Given the description of an element on the screen output the (x, y) to click on. 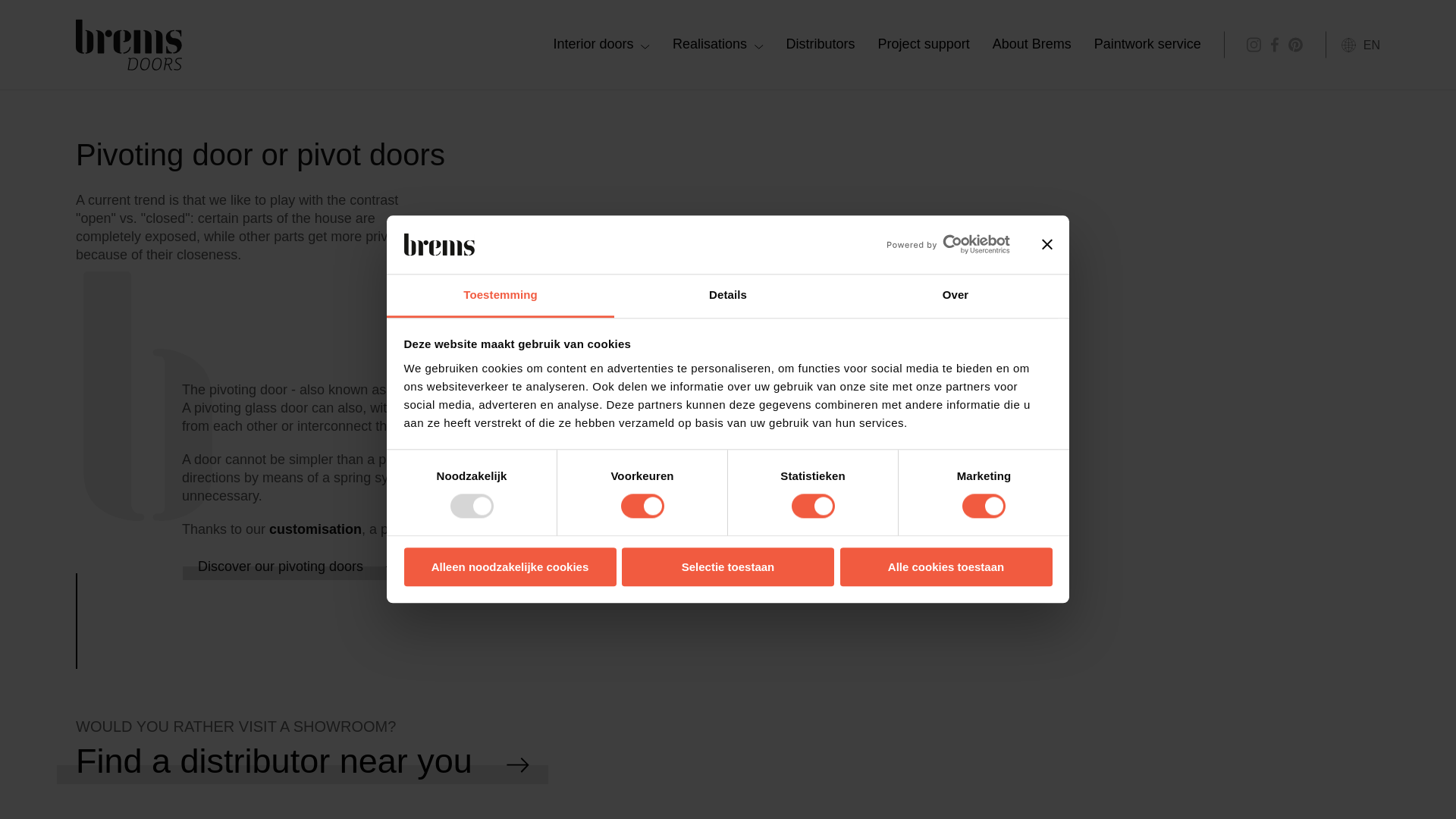
Toestemming (500, 295)
Details (727, 295)
Alle cookies toestaan (946, 566)
Selectie toestaan (727, 566)
Over (954, 295)
Alleen noodzakelijke cookies (509, 566)
